Given the description of an element on the screen output the (x, y) to click on. 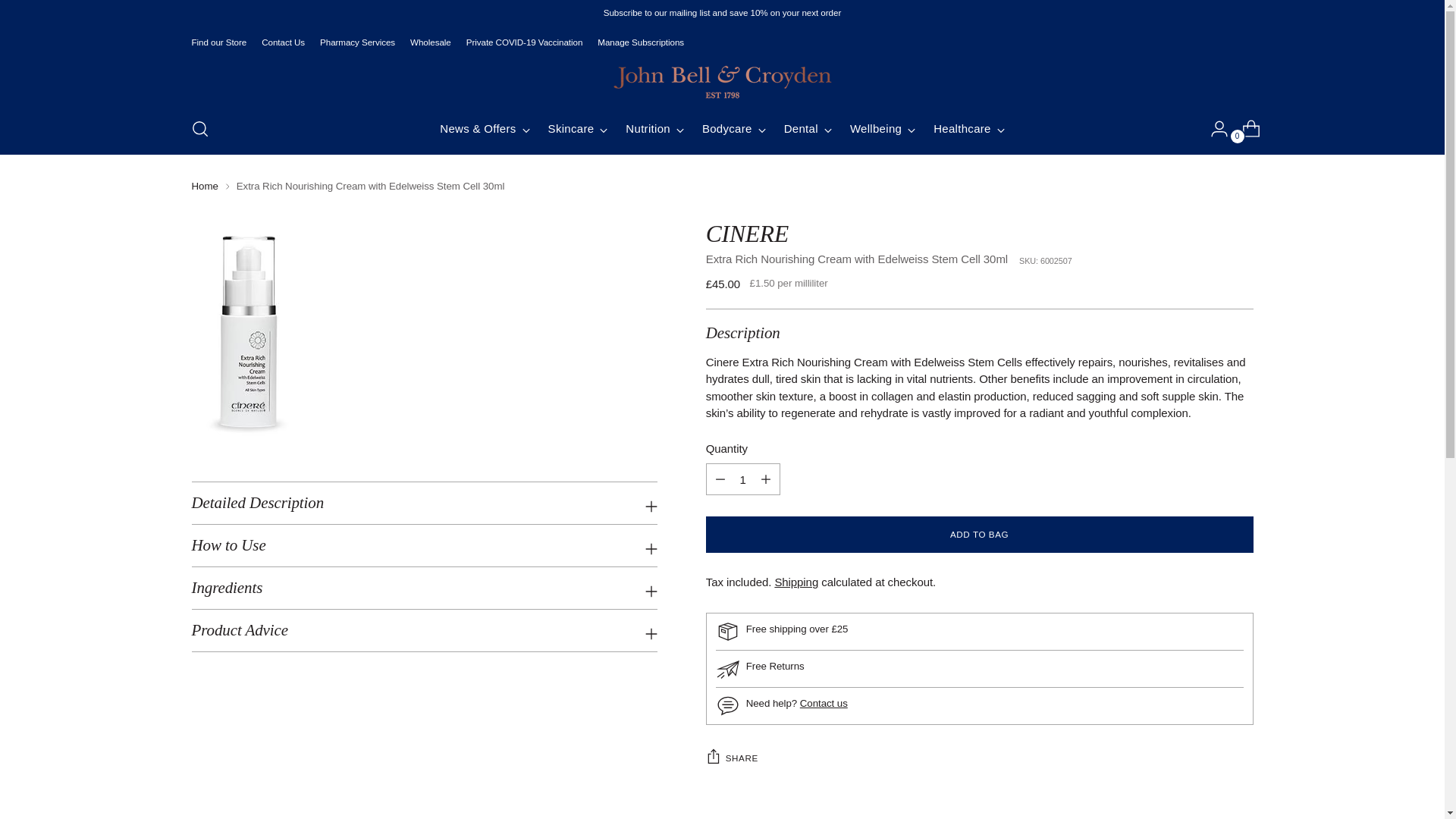
1 (743, 479)
Contact Us (283, 41)
Find our Store (218, 41)
Pharmacy Services (357, 41)
Wholesale (430, 41)
Skincare (578, 128)
Manage Subscriptions (640, 41)
Private COVID-19 Vaccination (524, 41)
